Given the description of an element on the screen output the (x, y) to click on. 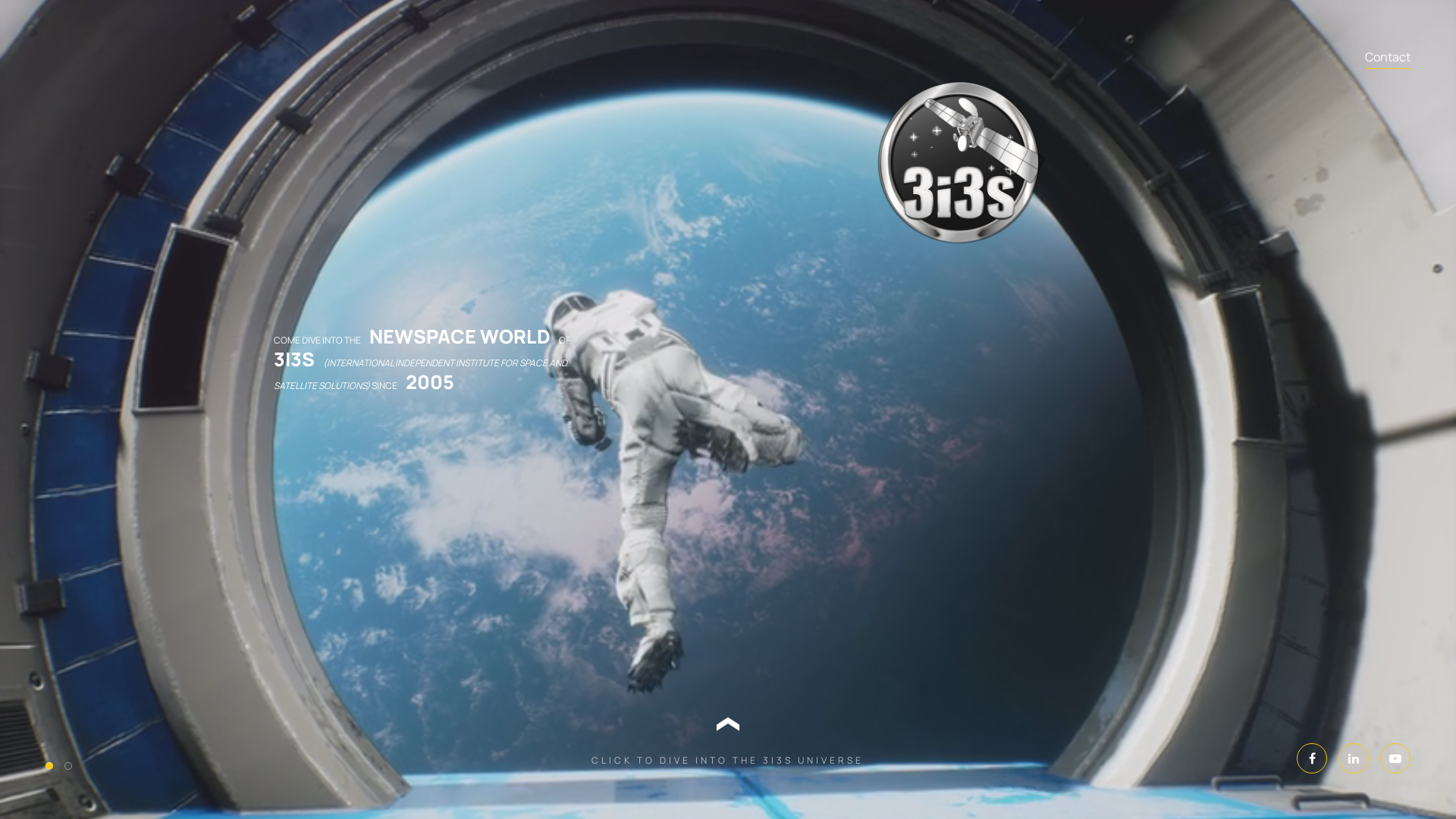
Contact Element type: text (1387, 57)
